Given the description of an element on the screen output the (x, y) to click on. 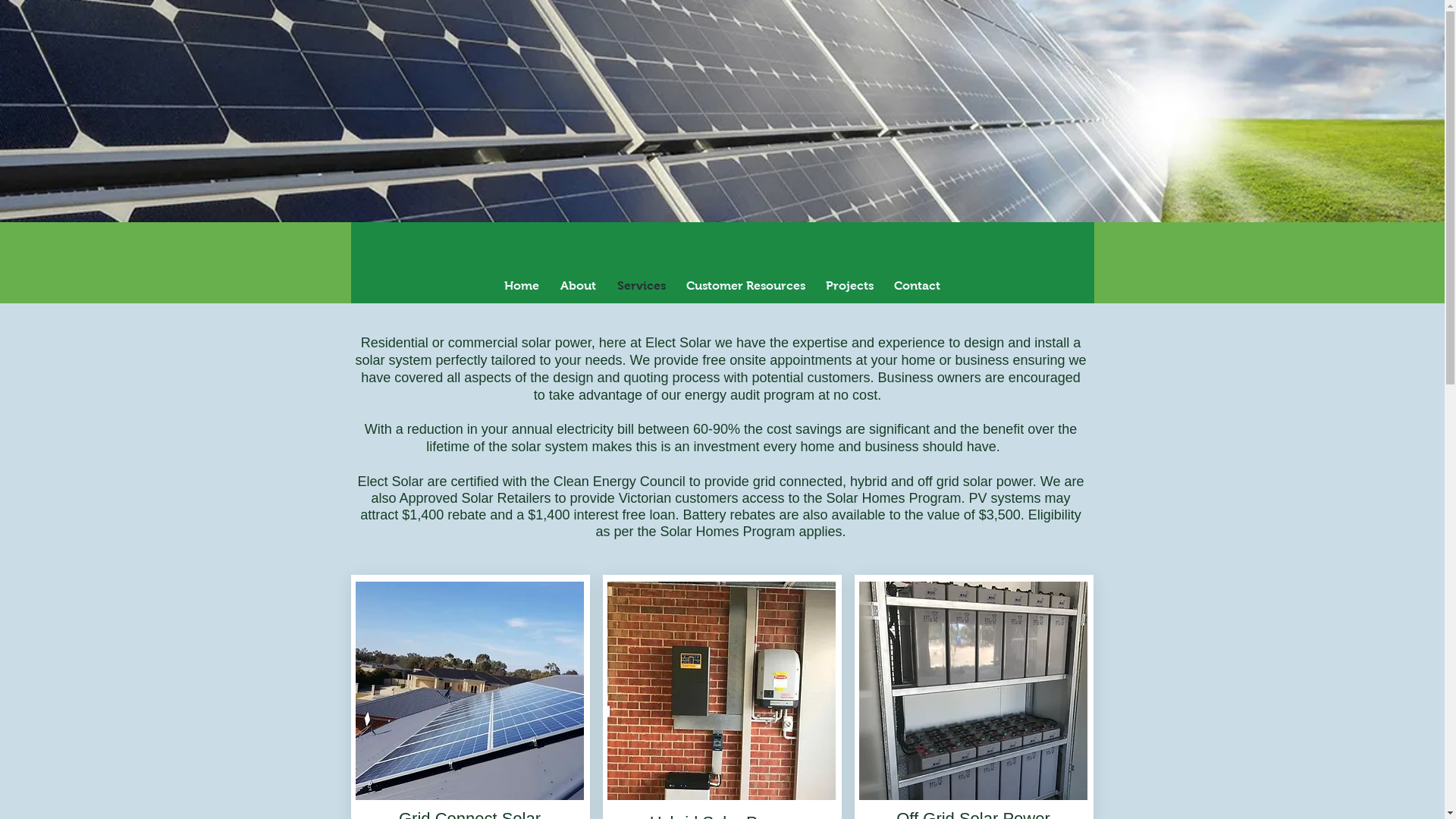
Contact Element type: text (917, 285)
About Element type: text (577, 285)
Customer Resources Element type: text (745, 285)
Projects Element type: text (849, 285)
Home Element type: text (520, 285)
Services Element type: text (641, 285)
